Given the description of an element on the screen output the (x, y) to click on. 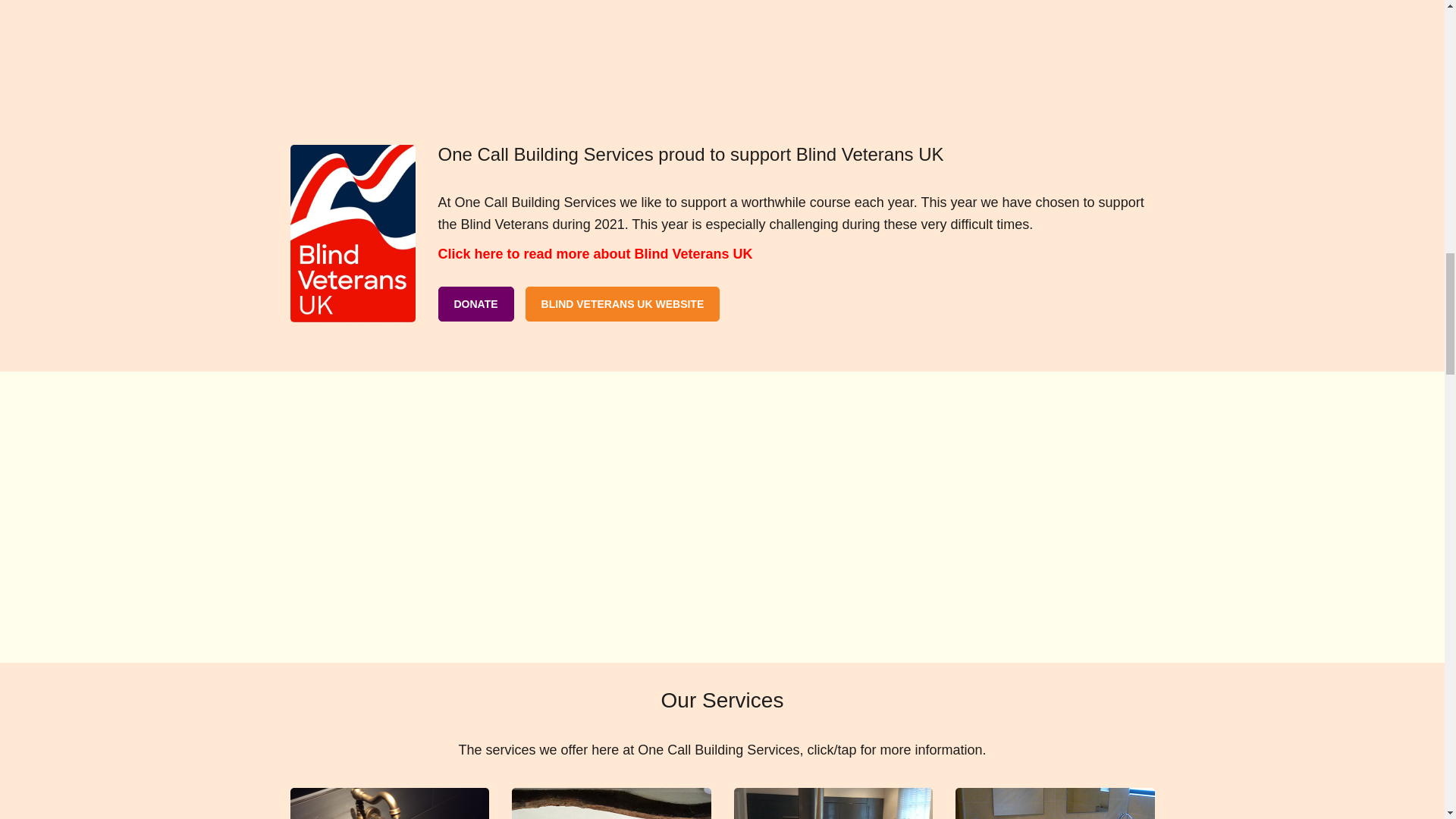
One Call Building Services (721, 46)
